Given the description of an element on the screen output the (x, y) to click on. 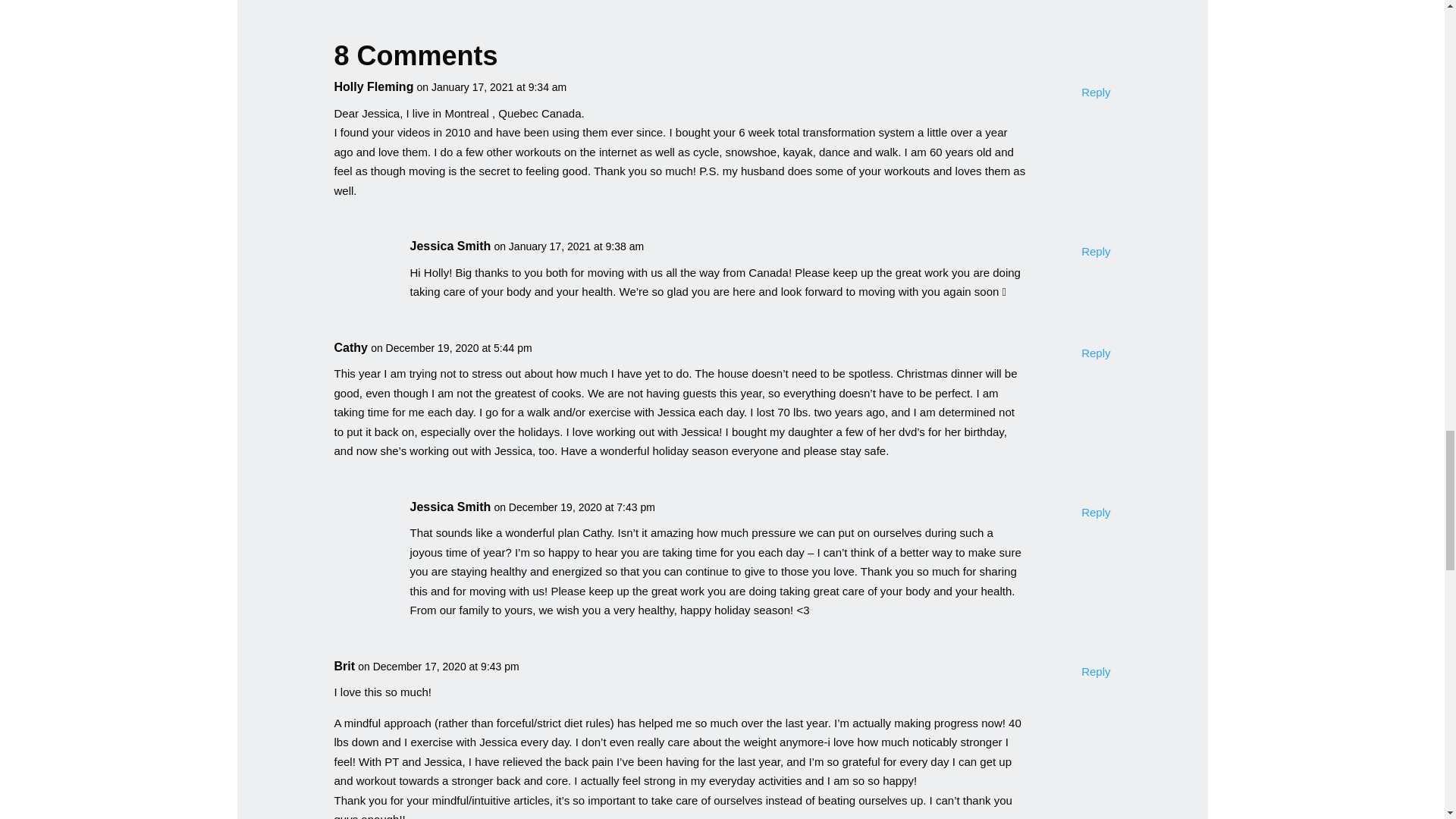
Reply (1095, 92)
Reply (1095, 512)
Reply (1095, 353)
Reply (1095, 671)
Reply (1095, 251)
